Given the description of an element on the screen output the (x, y) to click on. 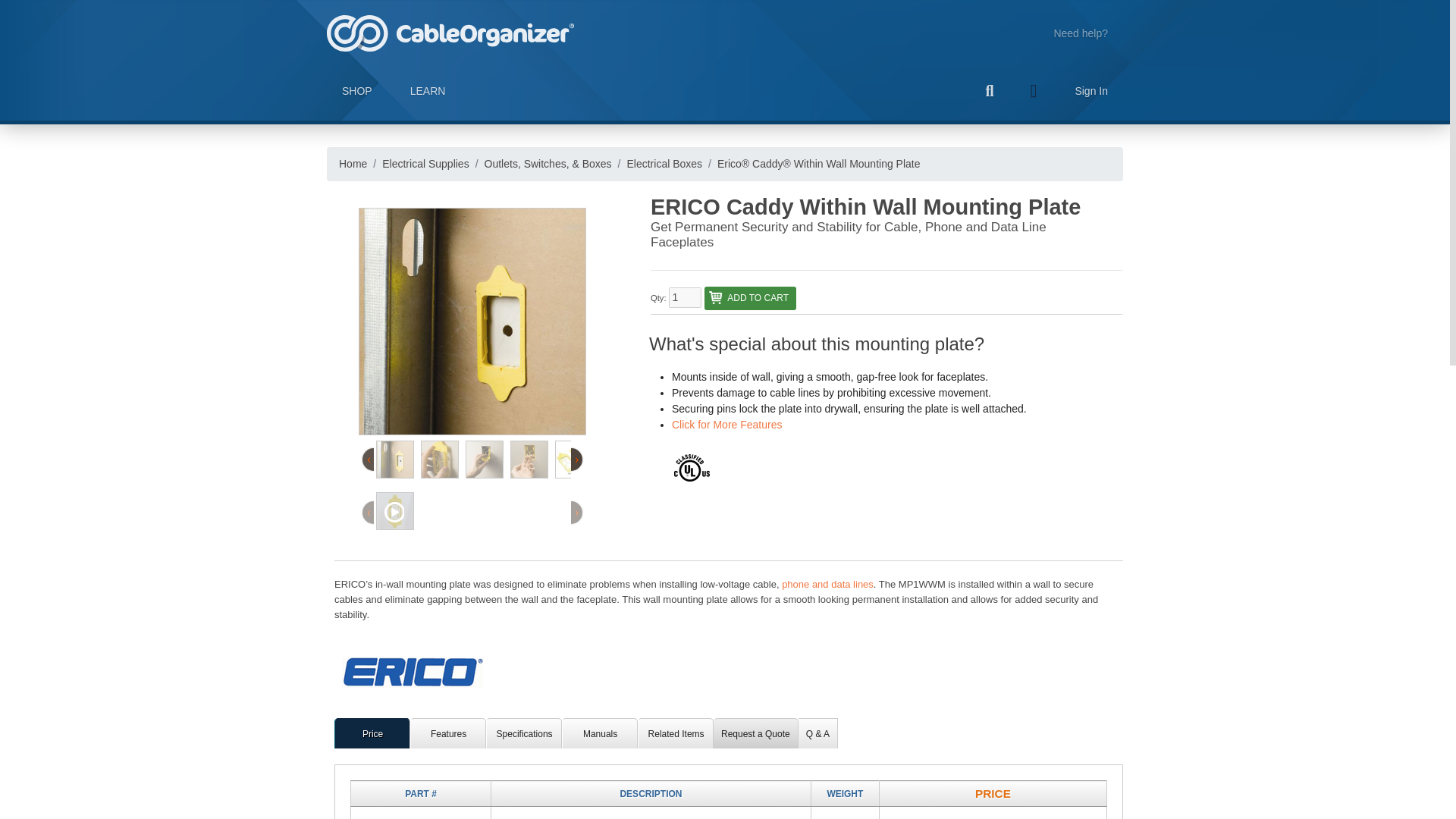
SHOP (356, 90)
Erico Pentair products (410, 672)
1 (684, 297)
Click for More Features (726, 424)
Need help? (1080, 33)
Add to Cart (750, 298)
